Given the description of an element on the screen output the (x, y) to click on. 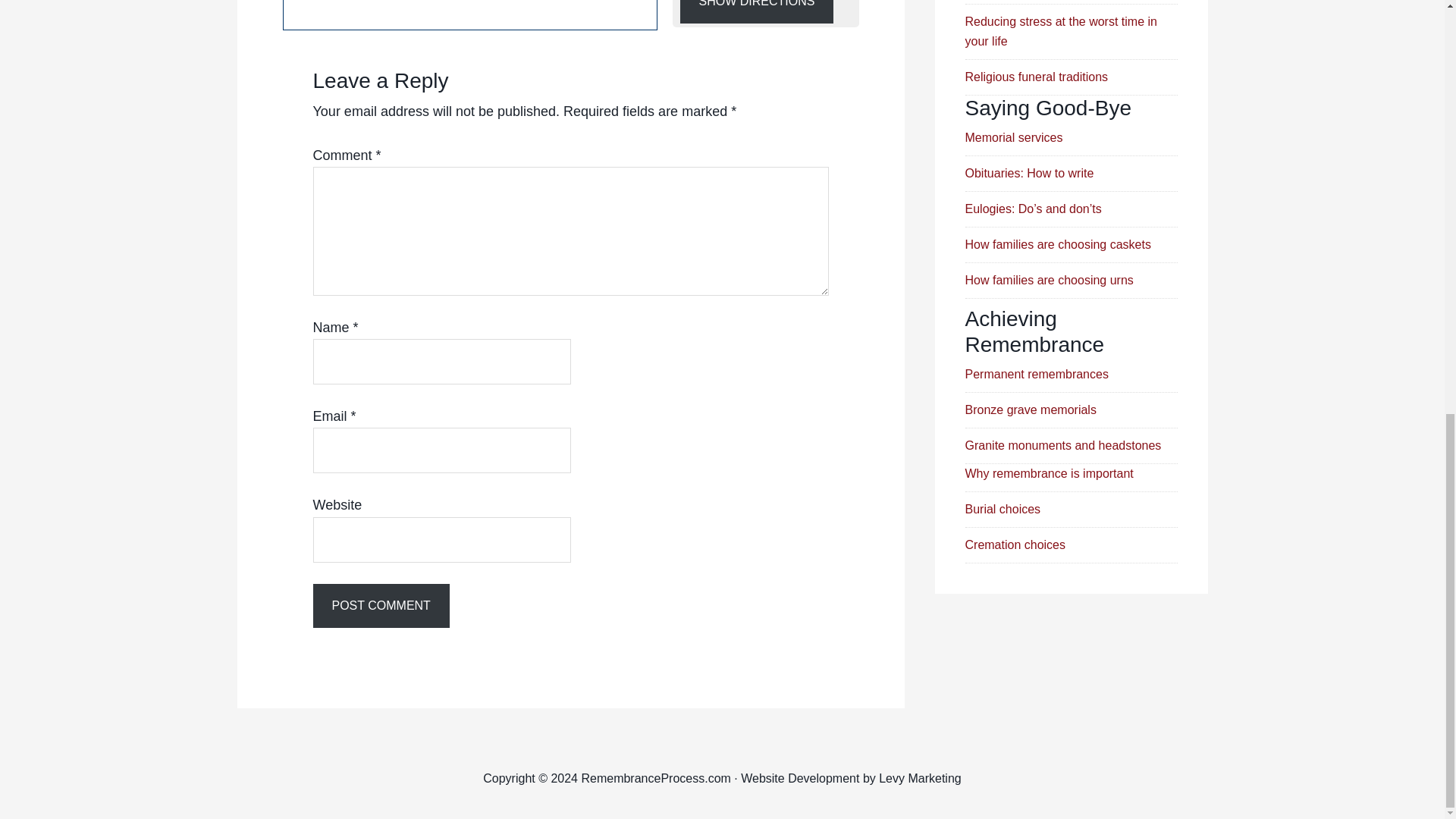
Post Comment (380, 605)
Show Directions (755, 11)
Show Directions (755, 11)
Post Comment (380, 605)
